Given the description of an element on the screen output the (x, y) to click on. 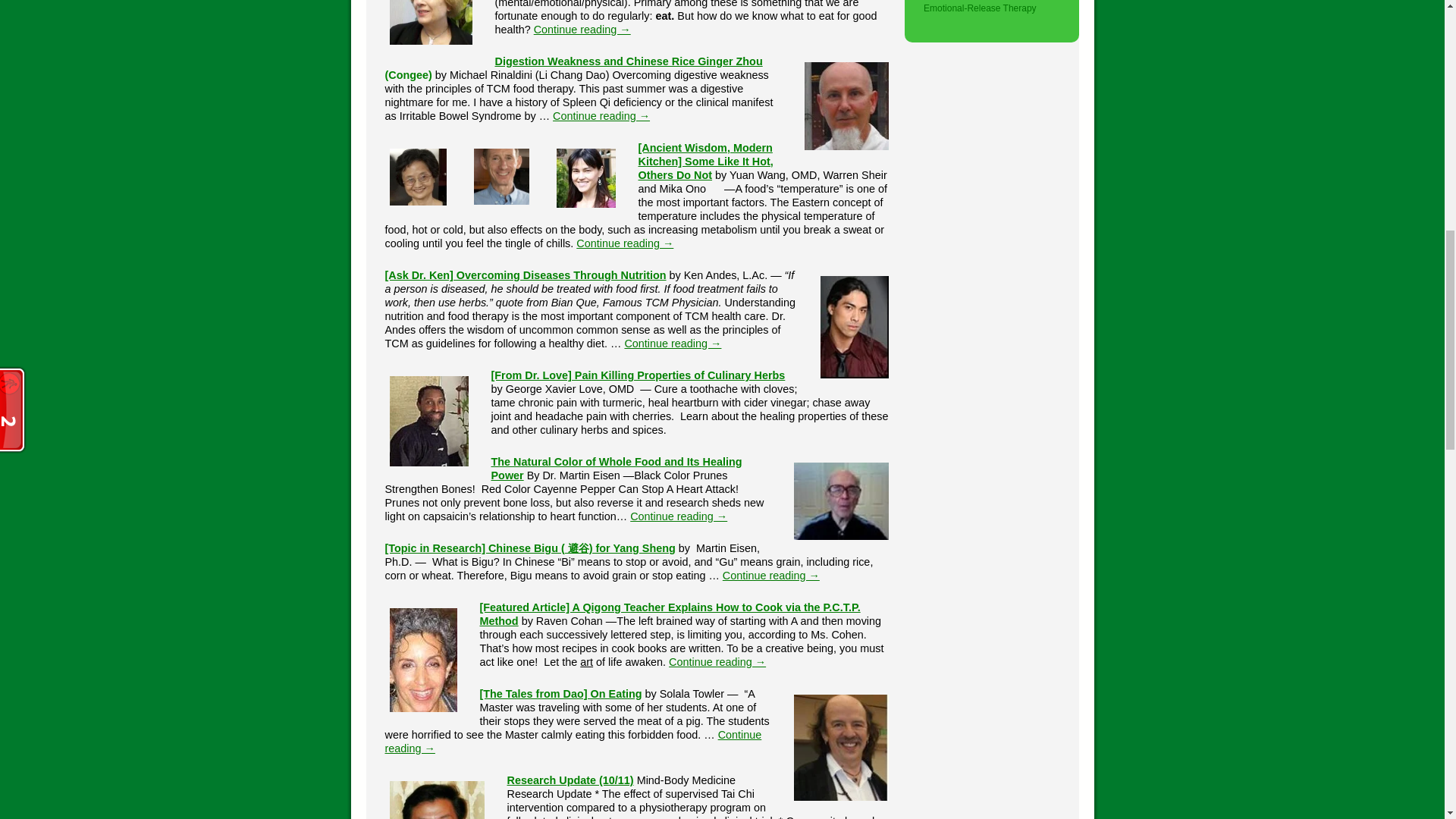
Dr. Yuan Wang (418, 176)
Michael Rinaldini Li Chang Dao (845, 105)
Salala (840, 747)
Marty.Eisen (840, 500)
Mika.Ono (585, 178)
Ellasara Kling (431, 24)
Kevin Chen (437, 797)
